Given the description of an element on the screen output the (x, y) to click on. 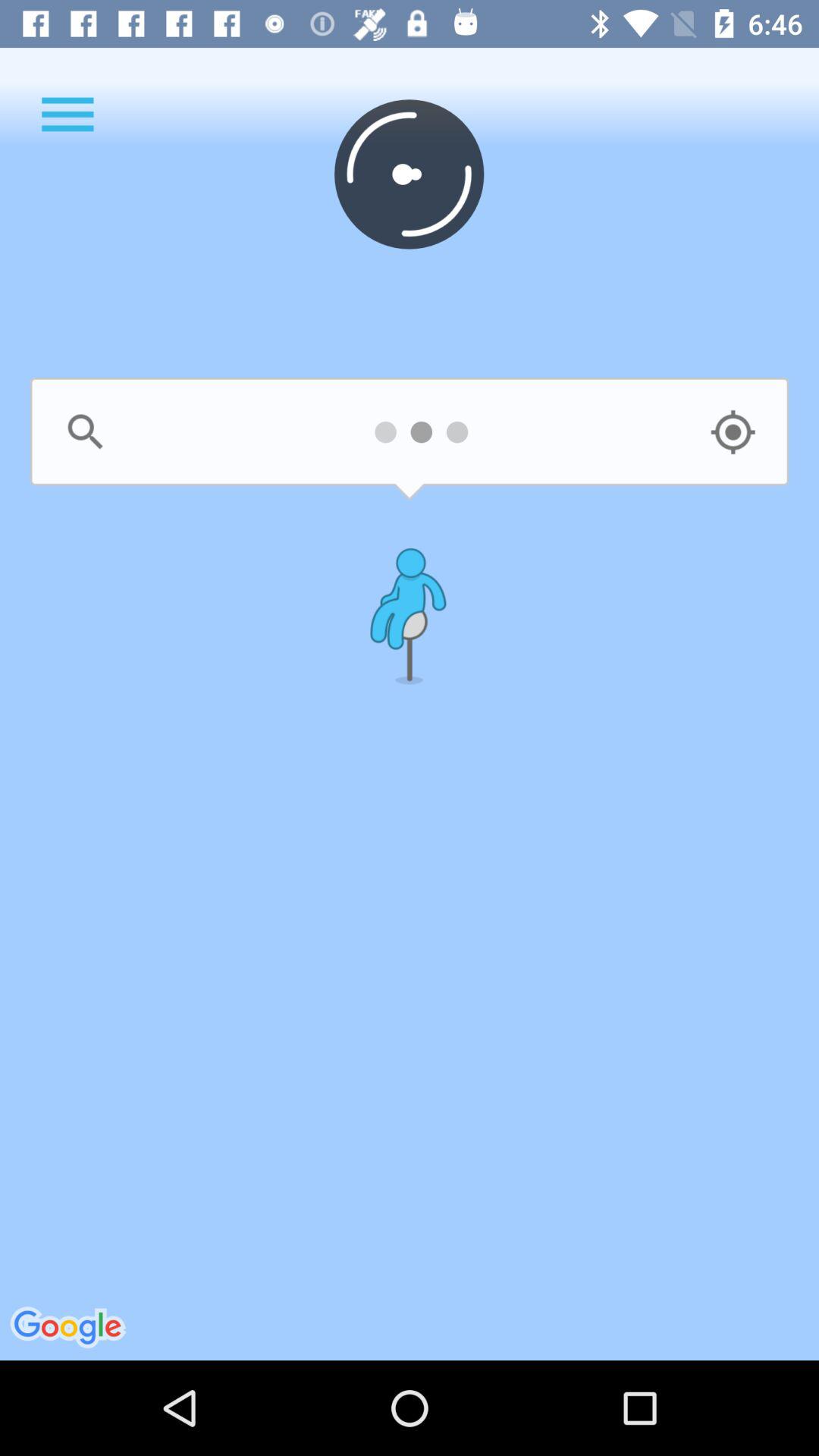
location (732, 432)
